Given the description of an element on the screen output the (x, y) to click on. 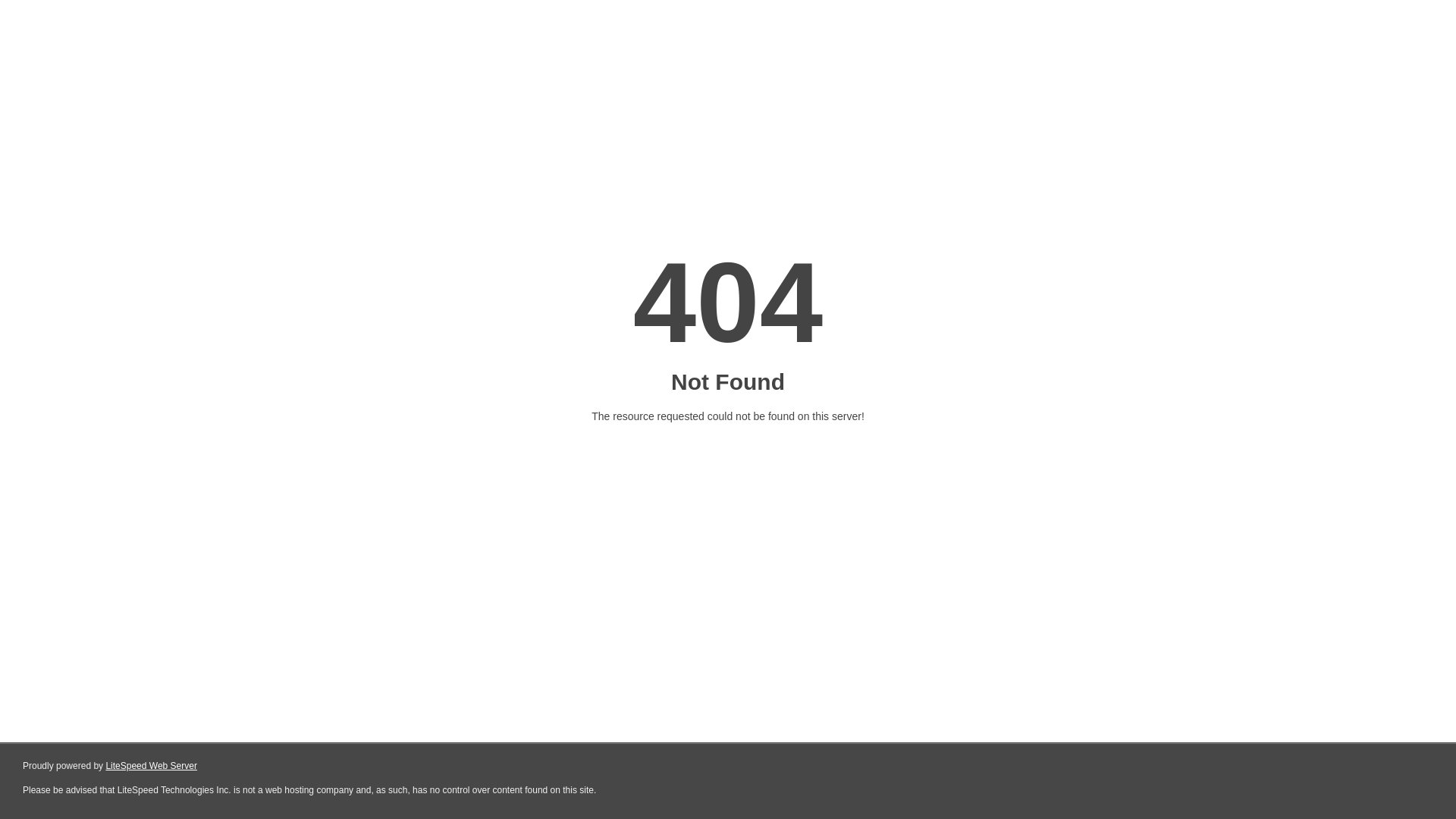
LiteSpeed Web Server Element type: text (151, 765)
